Given the description of an element on the screen output the (x, y) to click on. 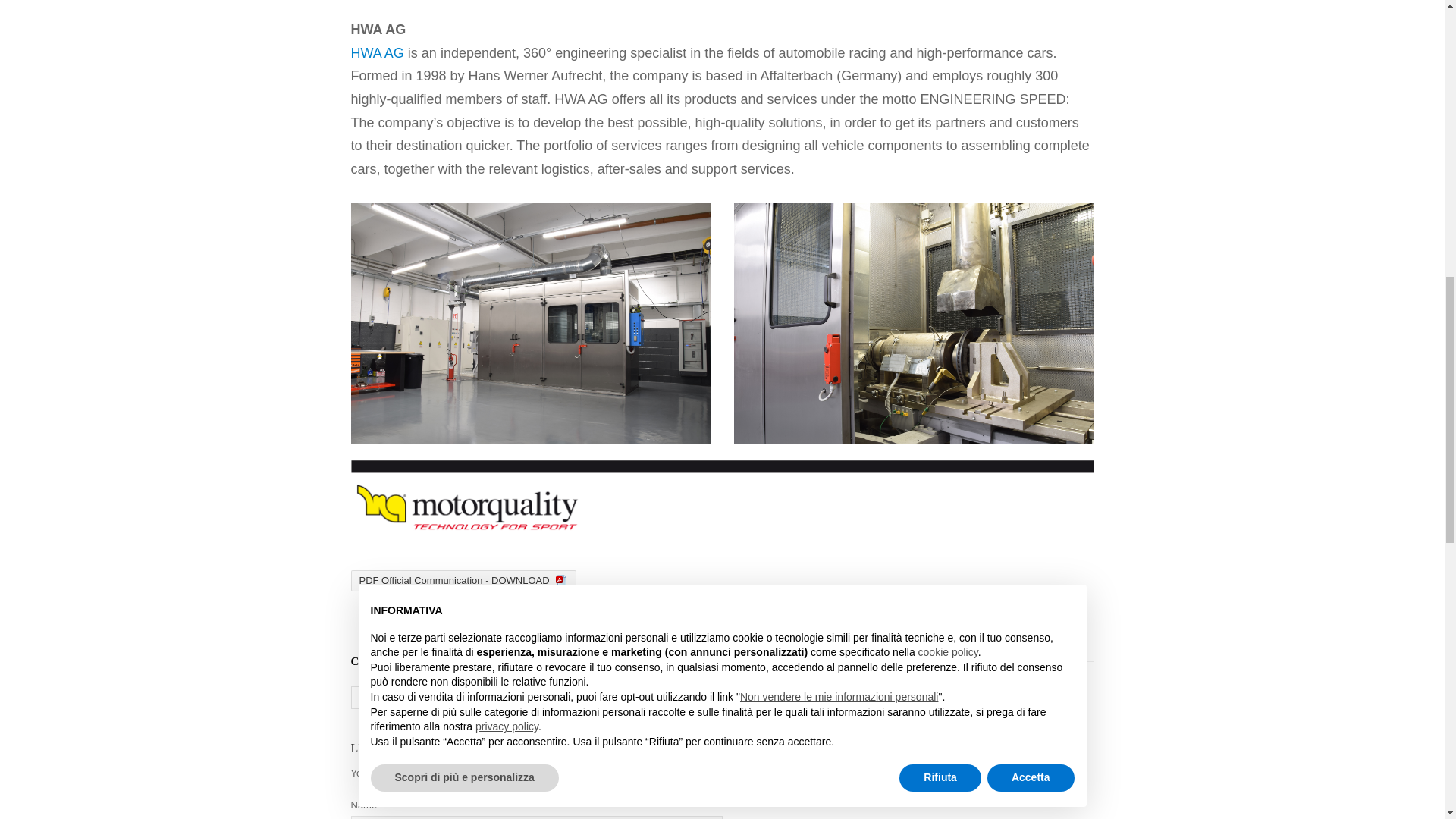
PDF Official Communication - DOWNLOAD (463, 579)
Instagram (386, 697)
Like (505, 697)
Tweet (452, 697)
HWA AG (376, 52)
PDF Official Communication - DOWNLOAD (463, 579)
